Given the description of an element on the screen output the (x, y) to click on. 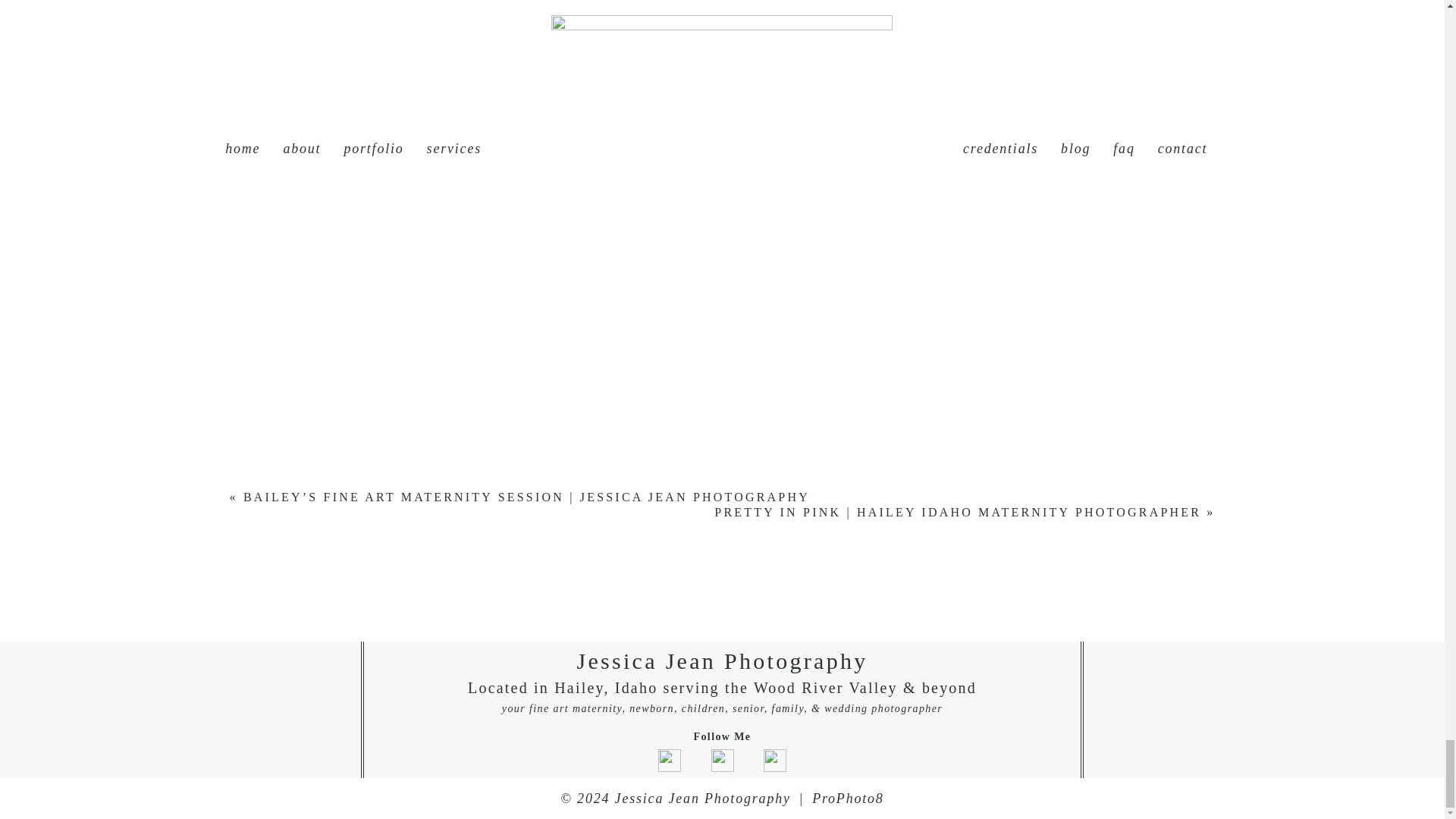
search (1407, 722)
ProPhoto Photography Website (847, 798)
ProPhoto8 (847, 798)
